Given the description of an element on the screen output the (x, y) to click on. 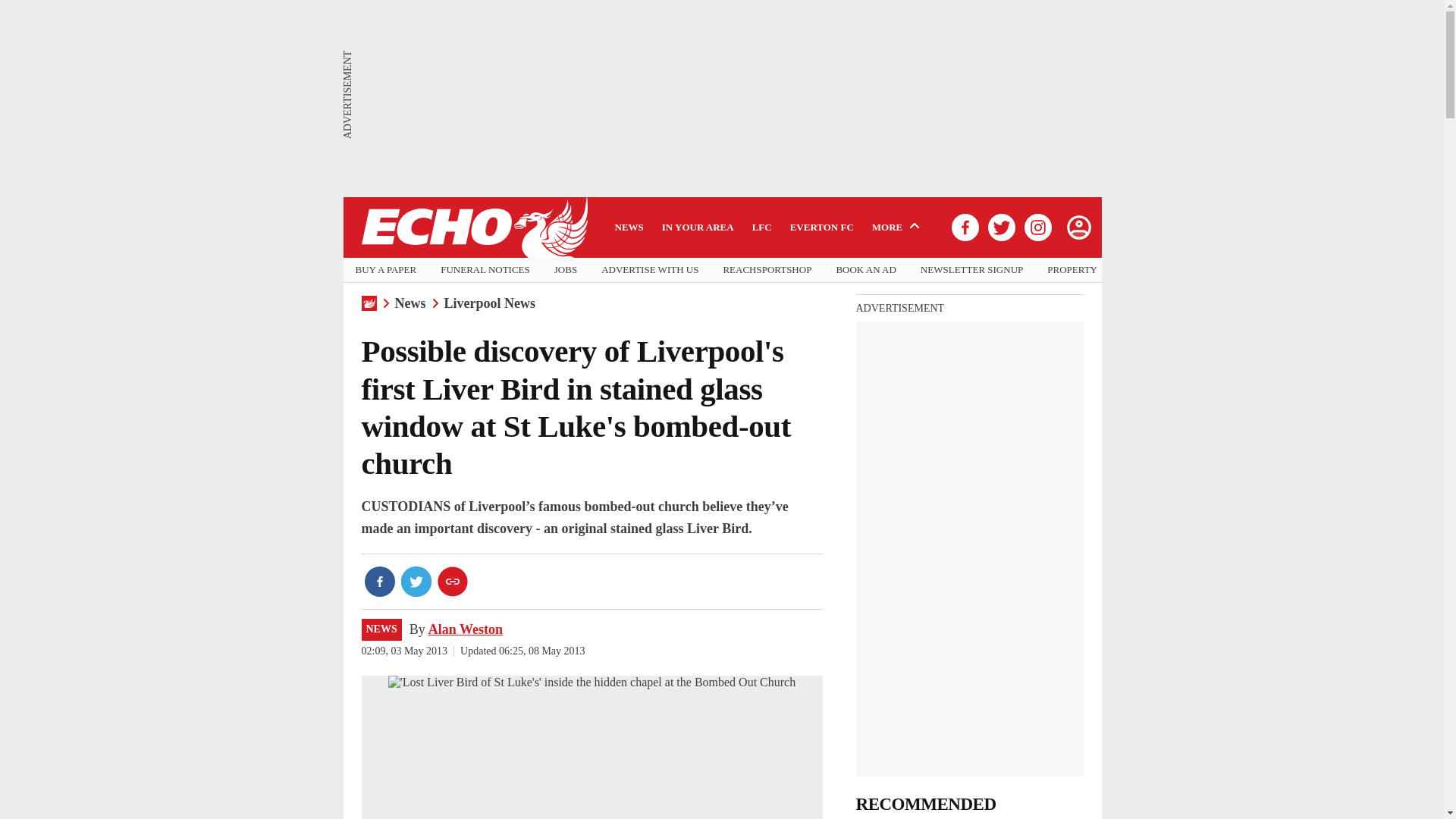
MORE (897, 227)
copy link (451, 581)
Liverpool News (489, 303)
REACHSPORTSHOP (766, 270)
Go to the Liverpool Echo homepage (473, 227)
IN YOUR AREA (697, 227)
ADVERTISE WITH US (649, 270)
Alan Weston (465, 629)
PROPERTY (1071, 270)
BOOK AN AD (865, 270)
EVERTON FC (821, 227)
News (409, 303)
FUNERAL NOTICES (485, 270)
BUY A PAPER (385, 270)
JOBS (565, 270)
